Given the description of an element on the screen output the (x, y) to click on. 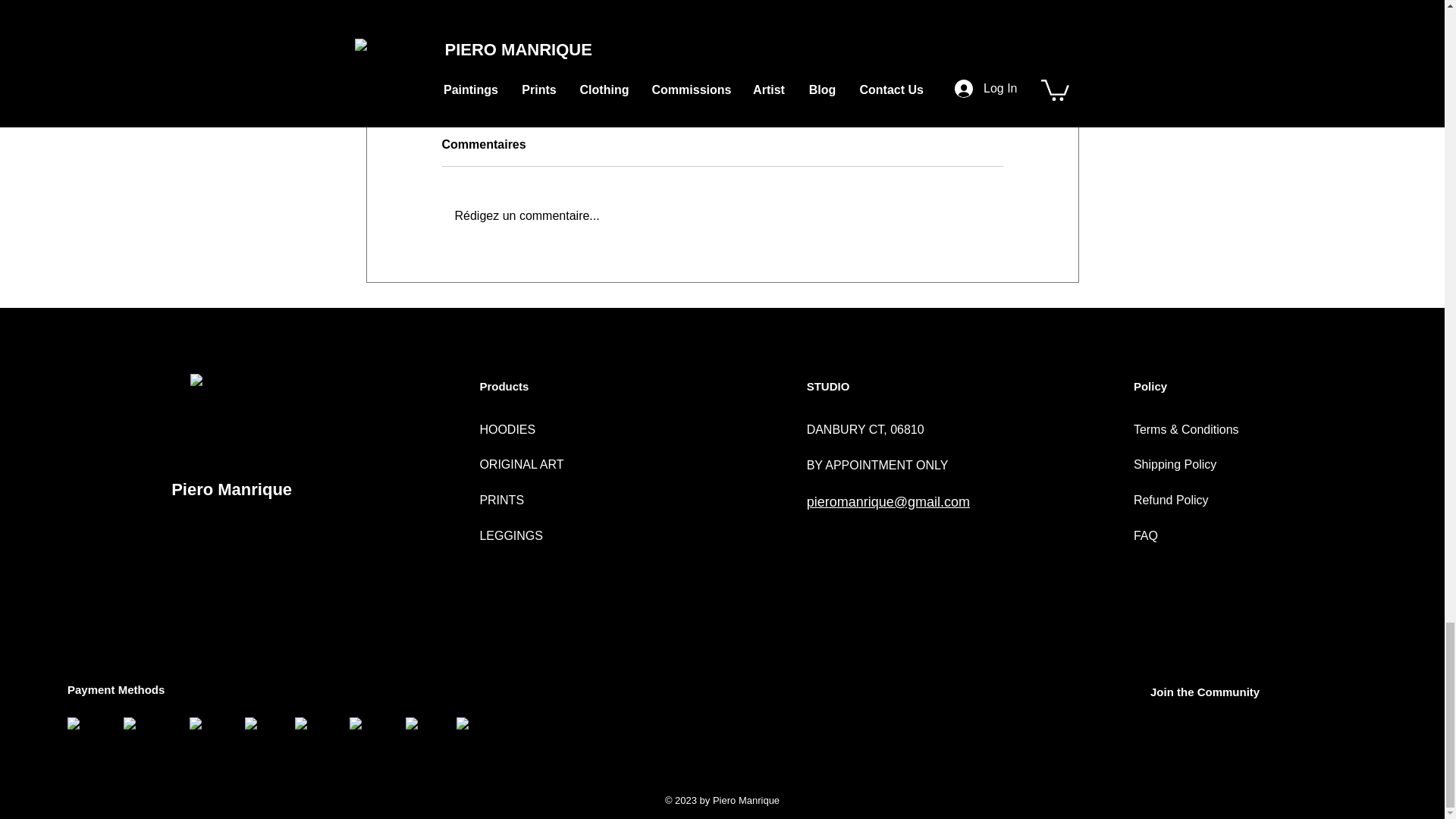
Post not marked as liked (1050, 66)
0 (931, 66)
0 (681, 66)
0 (440, 66)
Post not marked as liked (804, 66)
Post not marked as liked (558, 66)
